Given the description of an element on the screen output the (x, y) to click on. 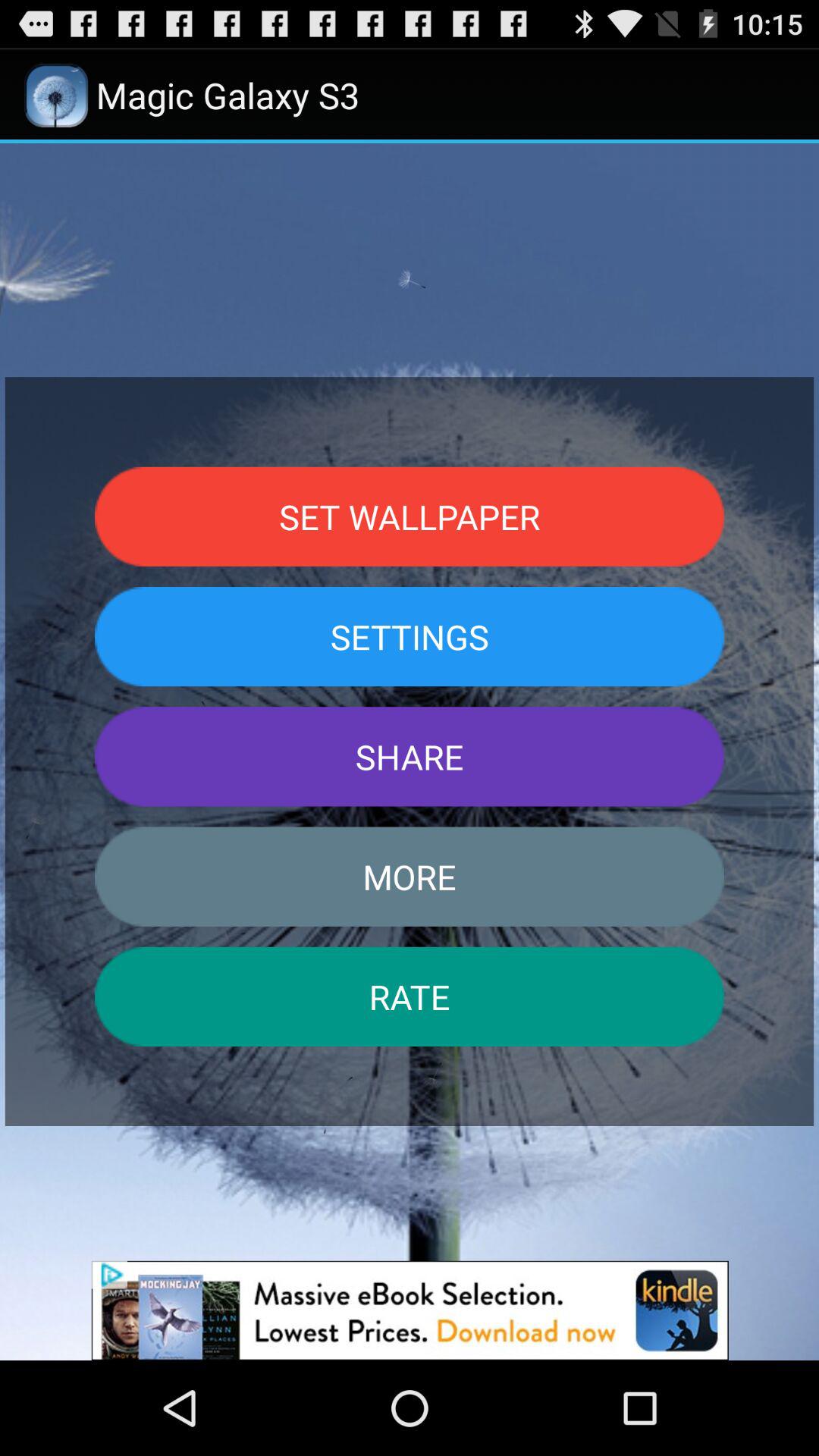
open add page (409, 1310)
